Given the description of an element on the screen output the (x, y) to click on. 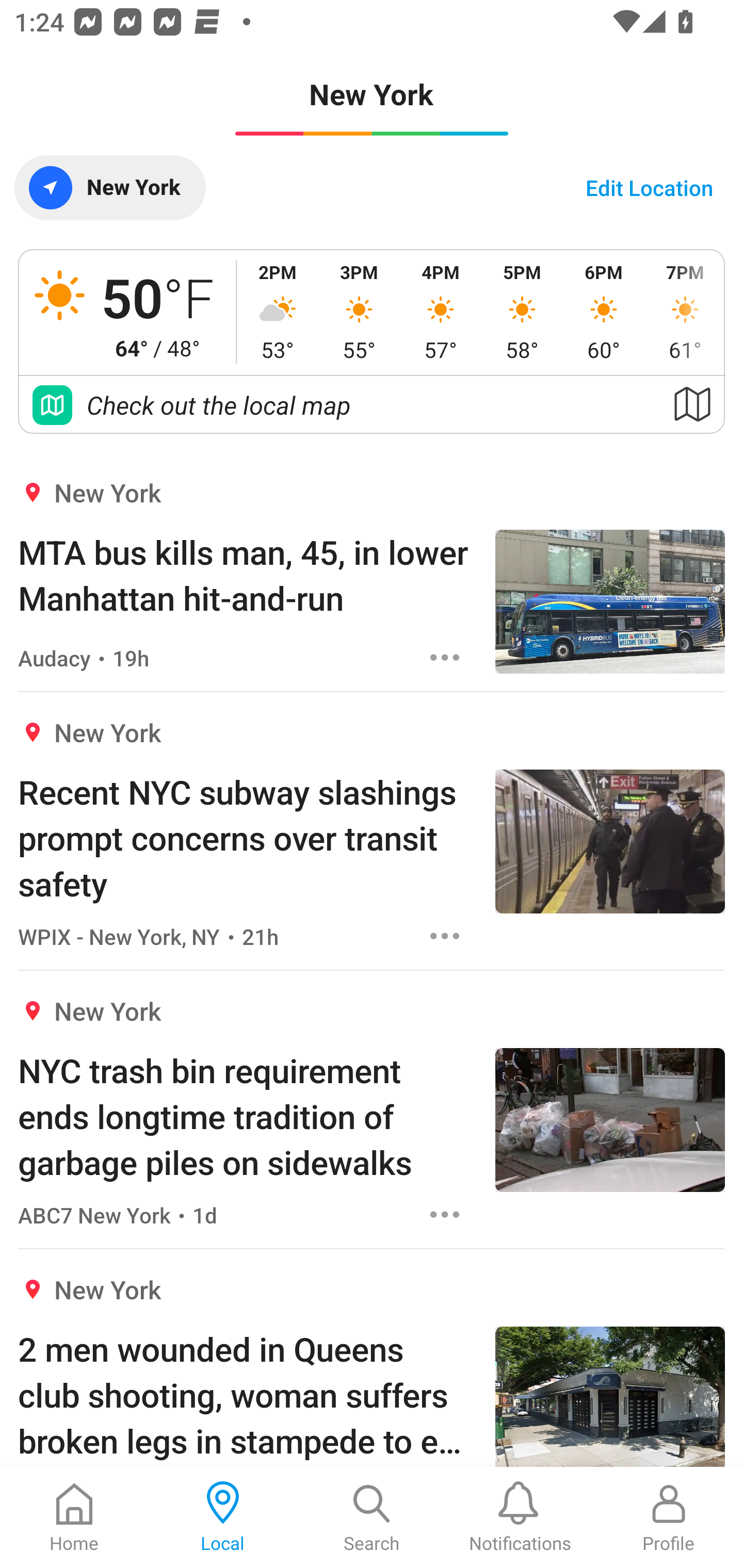
New York (109, 187)
Edit Location (648, 187)
2PM 53° (277, 311)
3PM 55° (358, 311)
4PM 57° (440, 311)
5PM 58° (522, 311)
6PM 60° (603, 311)
7PM 61° (684, 311)
Check out the local map (371, 405)
Options (444, 657)
Options (444, 936)
Options (444, 1214)
Home (74, 1517)
Search (371, 1517)
Notifications (519, 1517)
Profile (668, 1517)
